Given the description of an element on the screen output the (x, y) to click on. 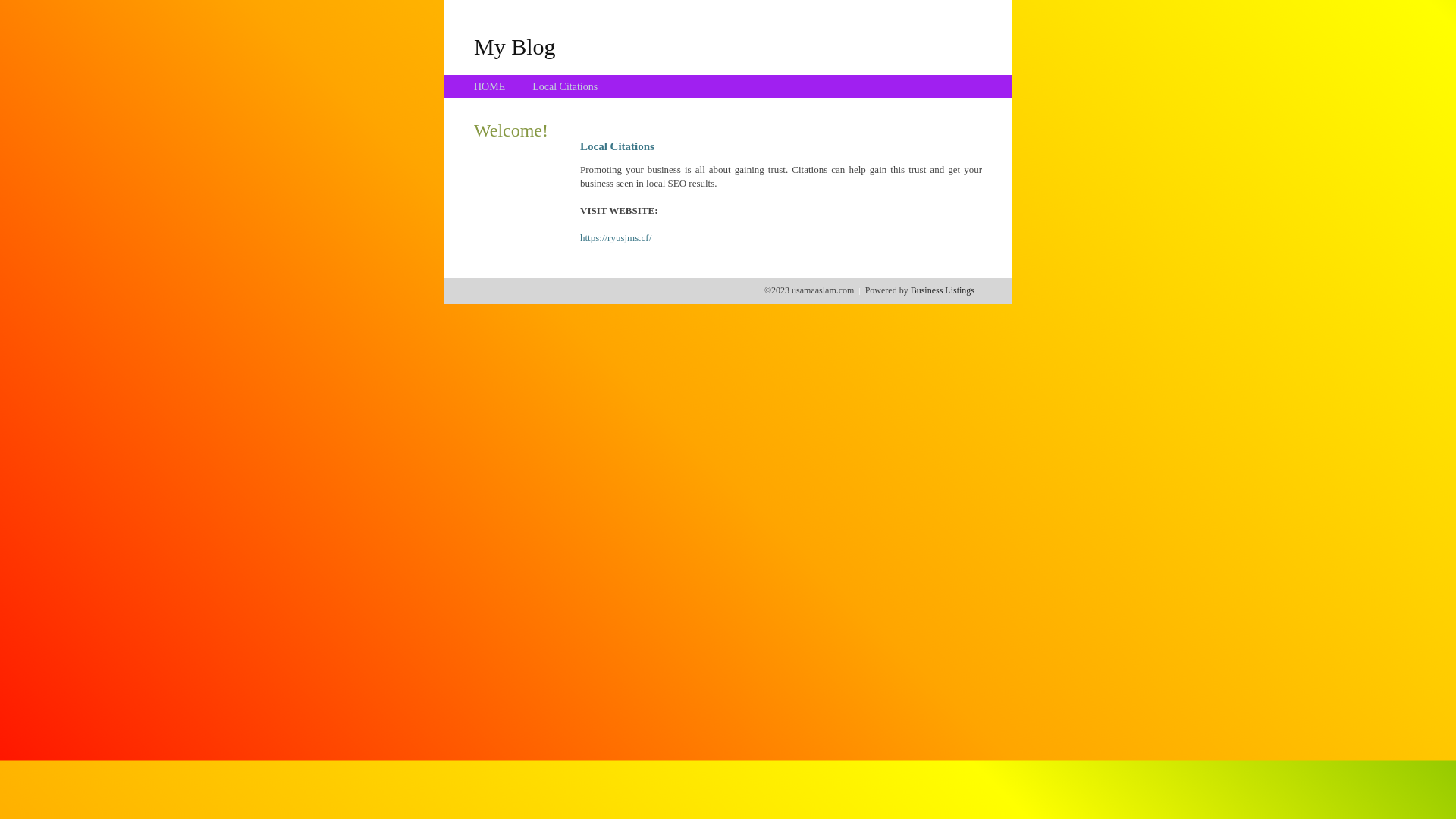
Business Listings Element type: text (942, 290)
Local Citations Element type: text (564, 86)
My Blog Element type: text (514, 46)
https://ryusjms.cf/ Element type: text (615, 237)
HOME Element type: text (489, 86)
